Given the description of an element on the screen output the (x, y) to click on. 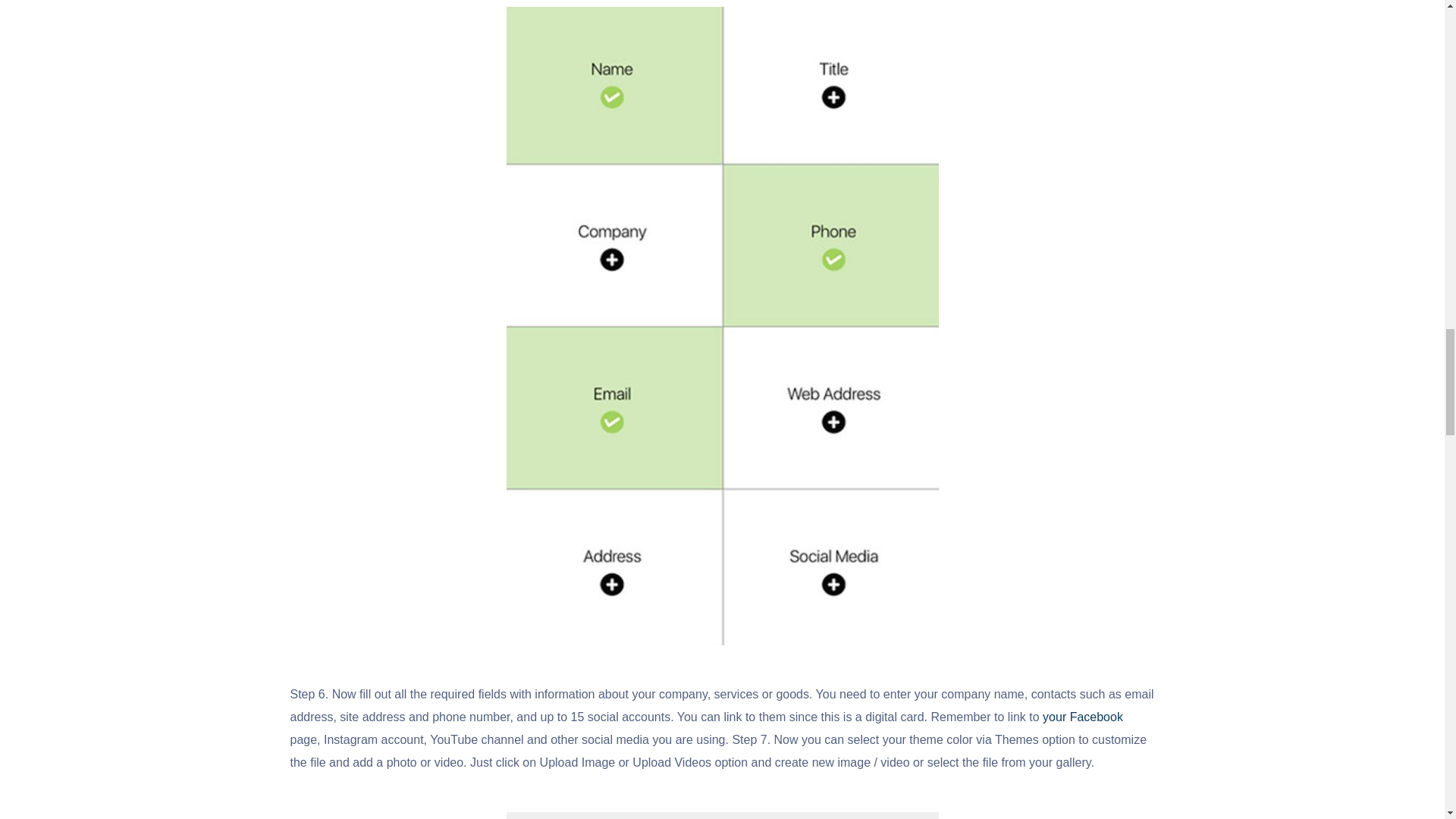
your Facebook (1082, 716)
